Given the description of an element on the screen output the (x, y) to click on. 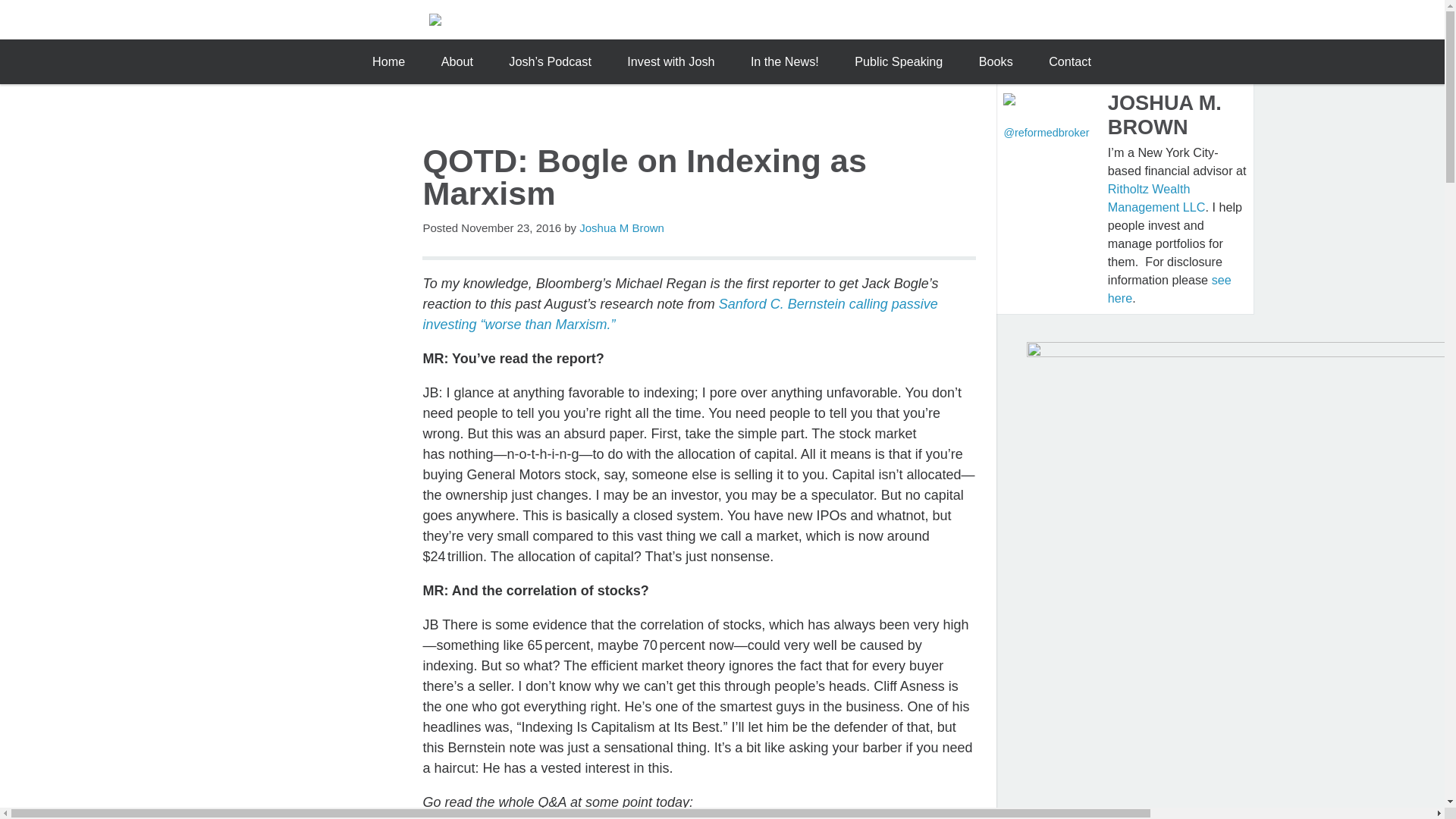
Home (388, 61)
Invest with Josh (670, 61)
Books (995, 61)
Joshua M Brown (621, 227)
Posts by Joshua M Brown (621, 227)
In the News! (784, 61)
Public Speaking (899, 61)
About (456, 61)
Contact (1069, 61)
